Given the description of an element on the screen output the (x, y) to click on. 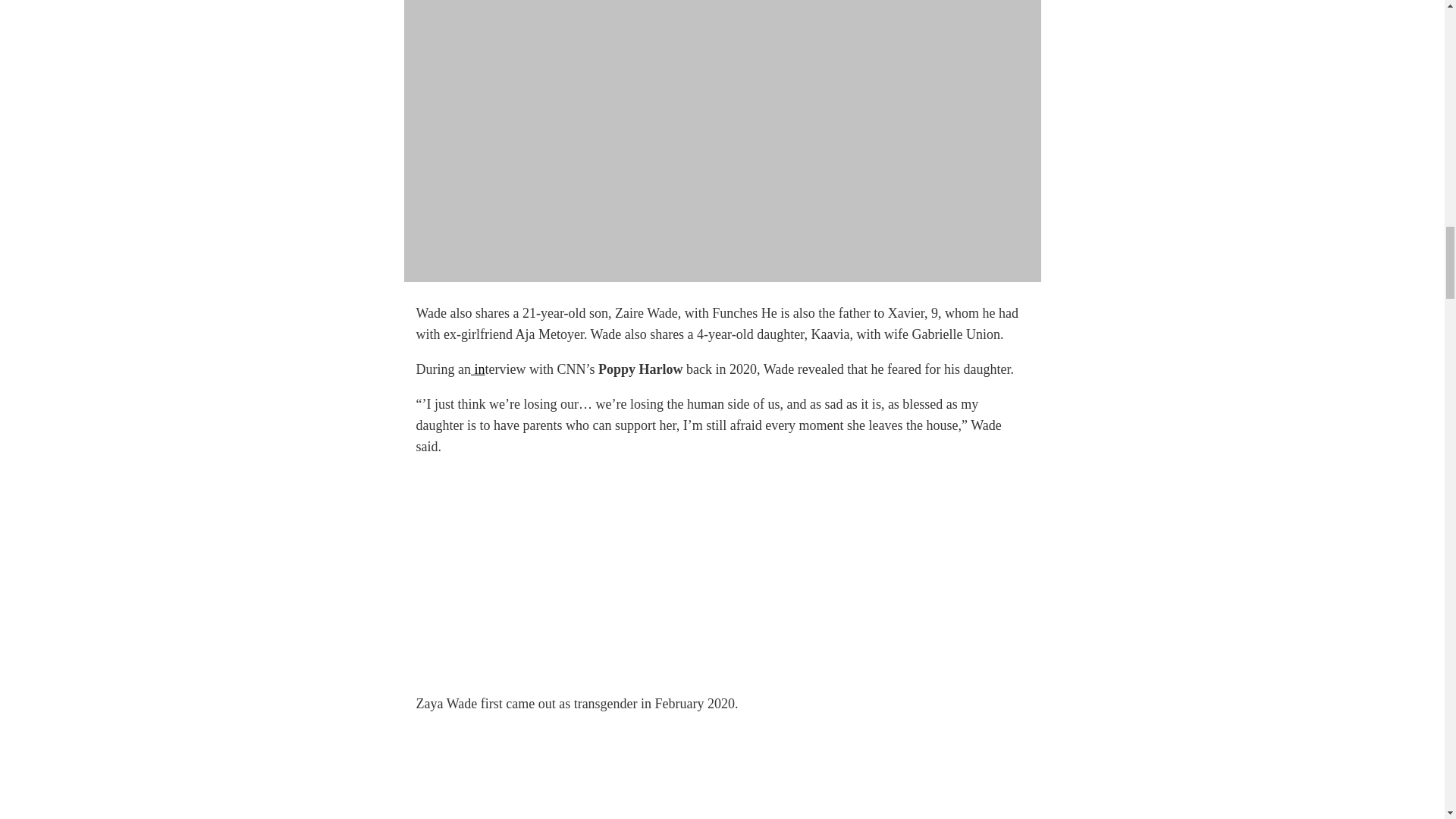
in (477, 368)
